Given the description of an element on the screen output the (x, y) to click on. 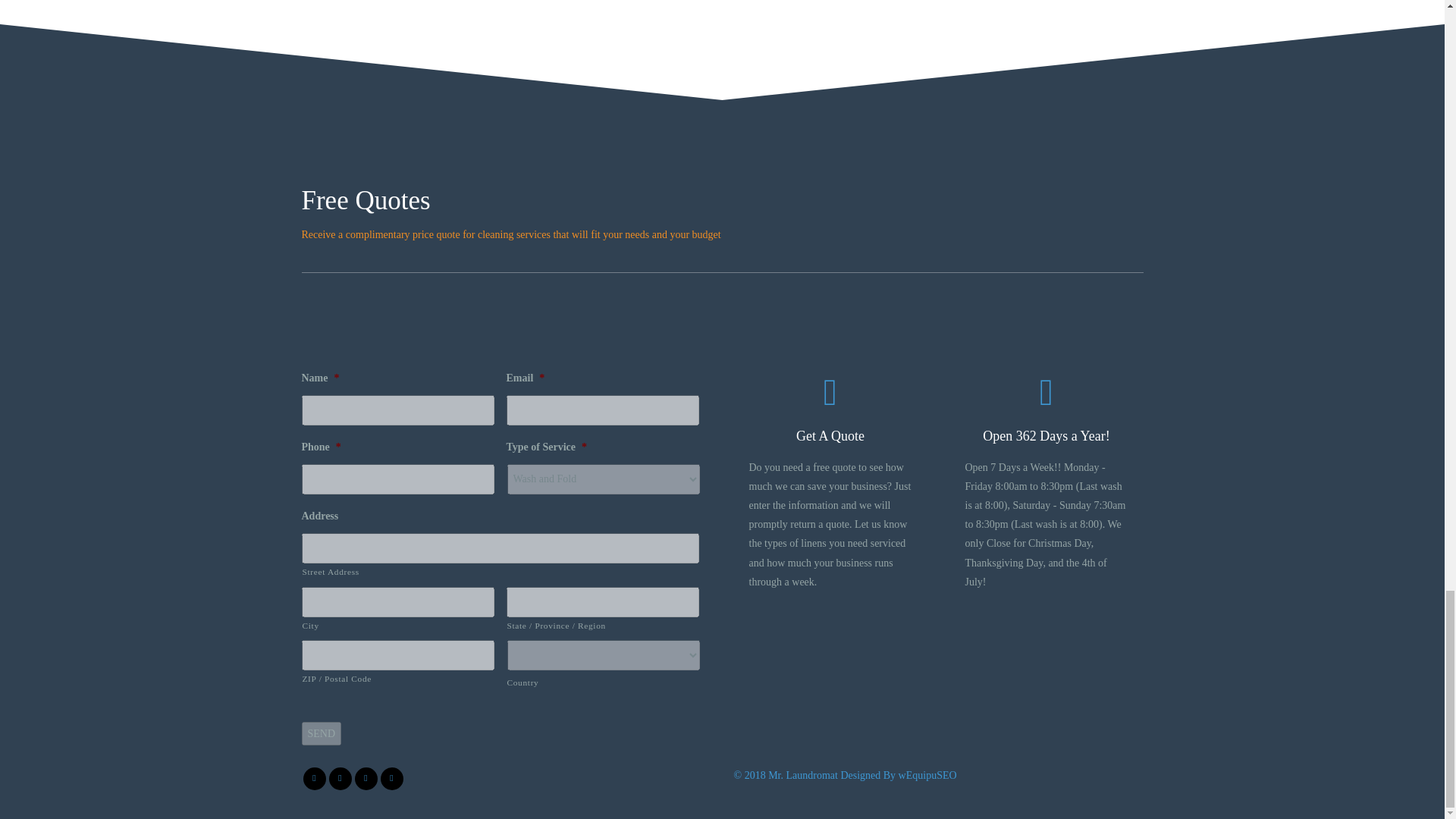
SEND (321, 733)
SEND (321, 733)
Designed By wEquipuSEO (898, 775)
